Given the description of an element on the screen output the (x, y) to click on. 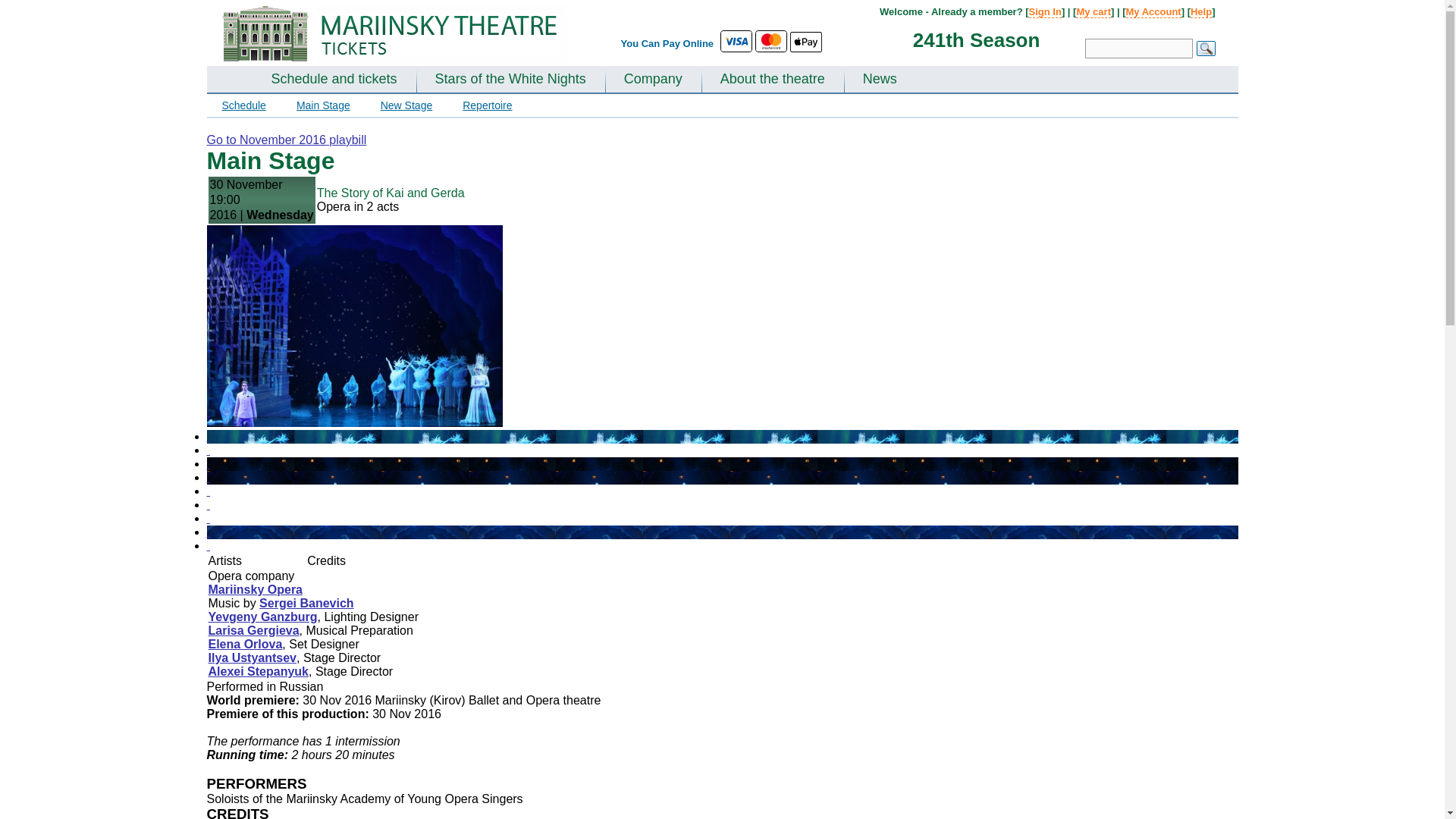
Main Stage (323, 105)
New Stage (405, 105)
Alexei Stepanyuk (258, 671)
Schedule and tickets (332, 80)
News (879, 80)
Yevgeny Ganzburg (262, 616)
Help (1201, 11)
Elena Orlova (245, 644)
Stars of the White Nights (510, 80)
Schedule (243, 105)
My cart (1092, 11)
Mariinsky Opera (255, 589)
